Given the description of an element on the screen output the (x, y) to click on. 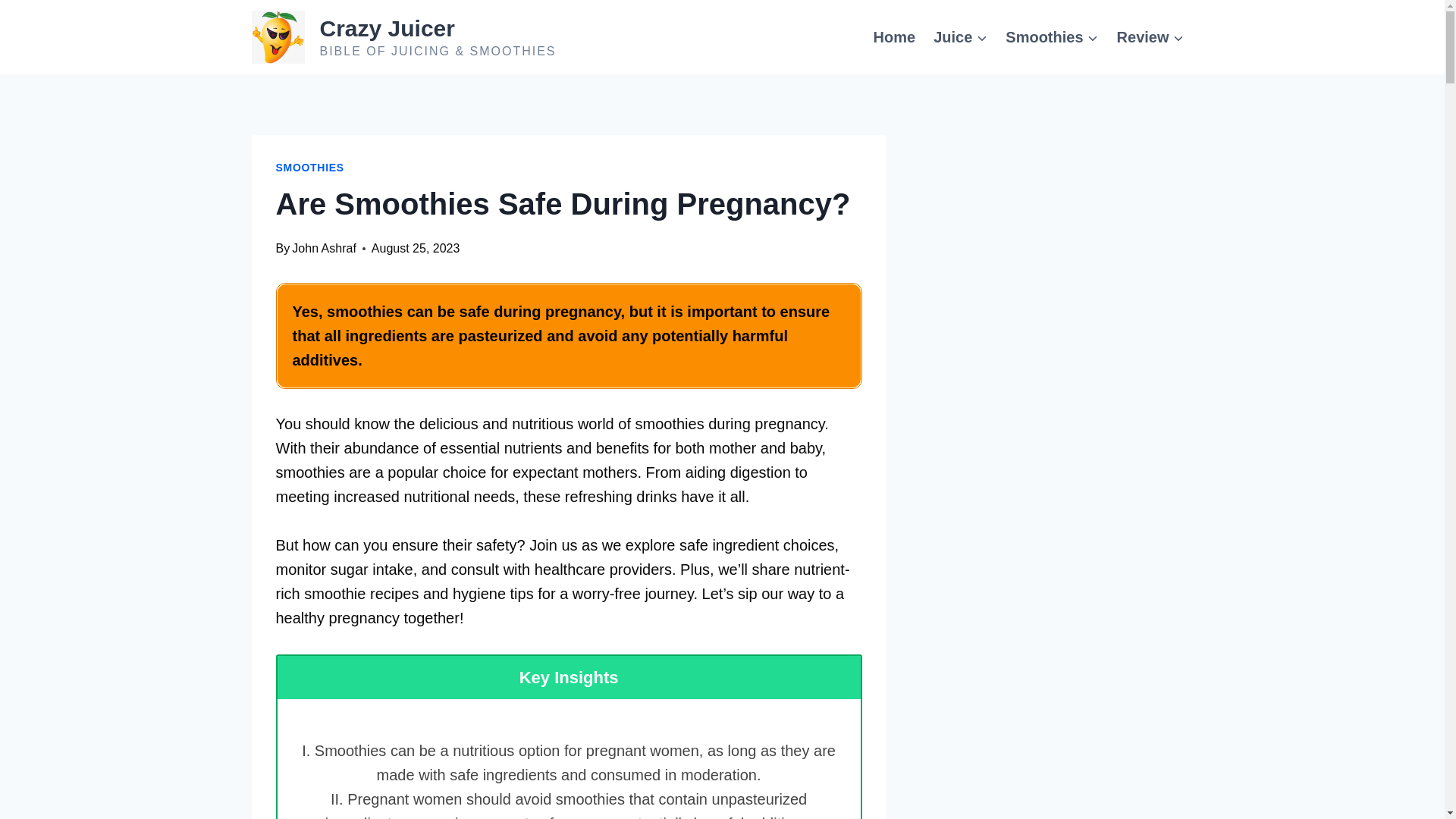
Juice (959, 36)
Home (894, 36)
Review (1150, 36)
John Ashraf (324, 247)
Smoothies (1050, 36)
SMOOTHIES (309, 167)
